Given the description of an element on the screen output the (x, y) to click on. 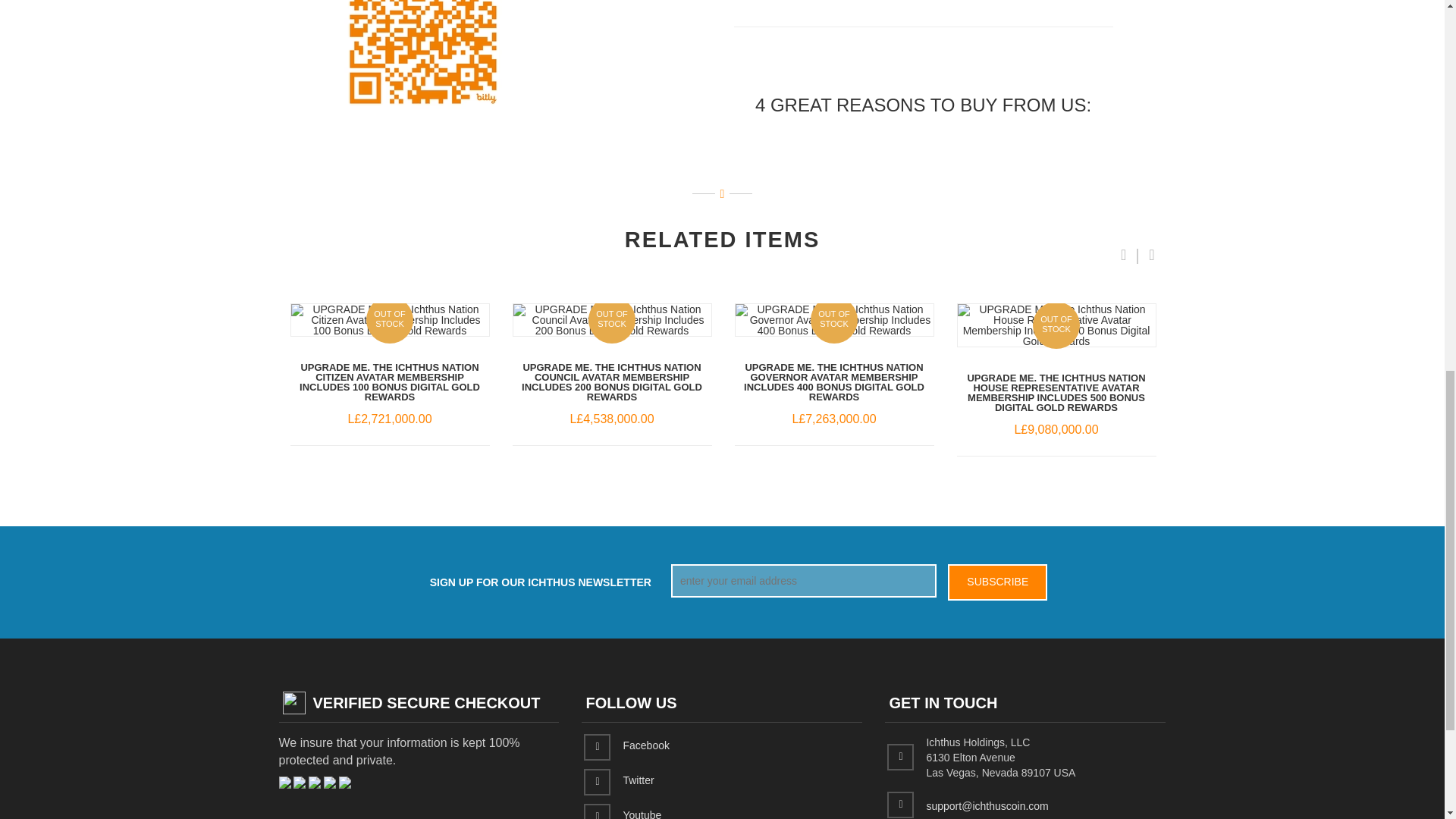
IchthusMug on Youtube (642, 813)
Youtube (642, 813)
OUT OF STOCK (390, 319)
OUT OF STOCK (611, 319)
Facebook (645, 744)
SUBSCRIBE (996, 582)
Twitter (638, 779)
OUT OF STOCK (1055, 324)
IchthusMug on Facebook (645, 744)
OUT OF STOCK (834, 319)
IchthusMug on Twitter (638, 779)
